Given the description of an element on the screen output the (x, y) to click on. 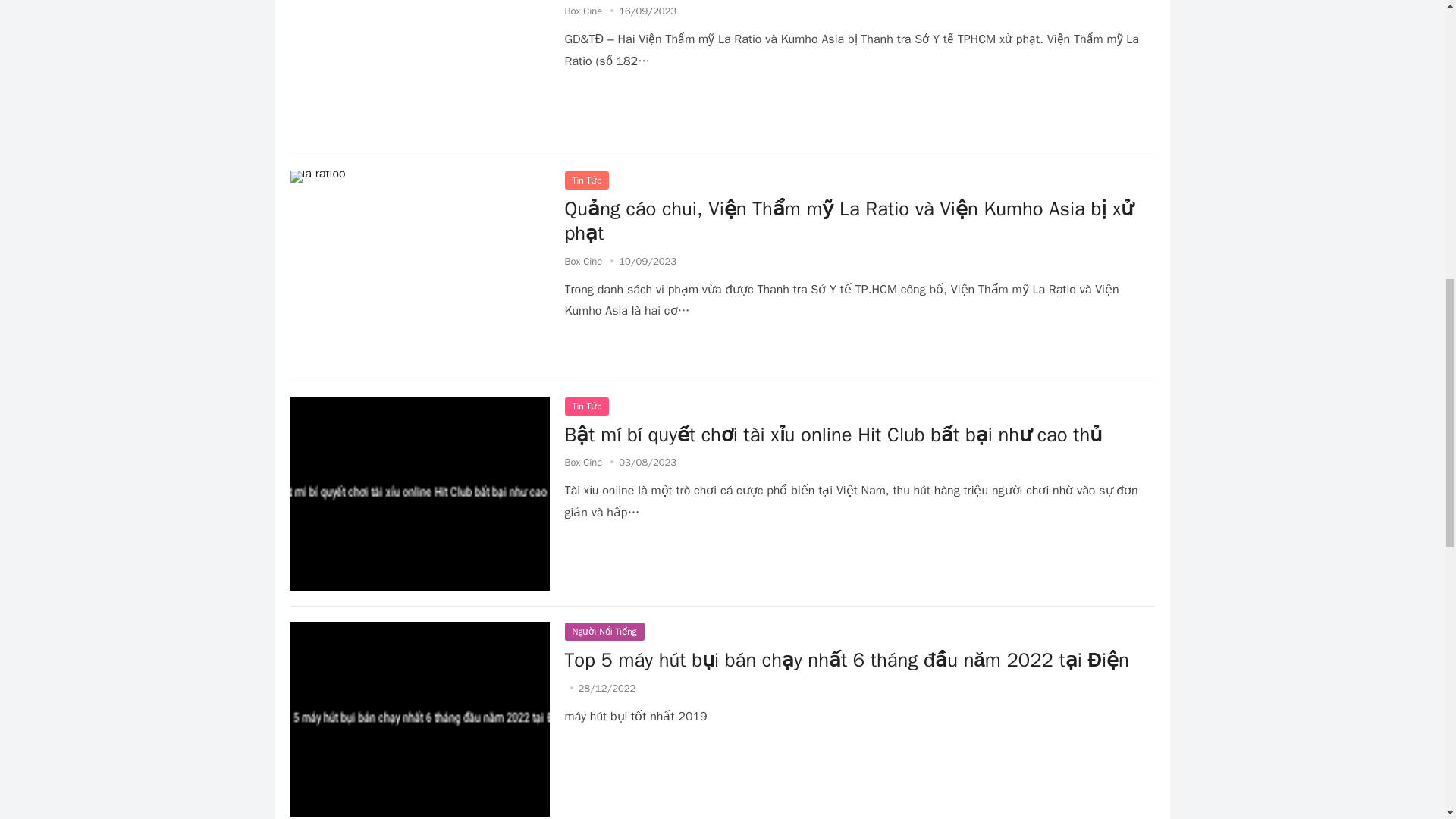
Box Cine (583, 260)
Box Cine (583, 461)
Box Cine (583, 10)
